Given the description of an element on the screen output the (x, y) to click on. 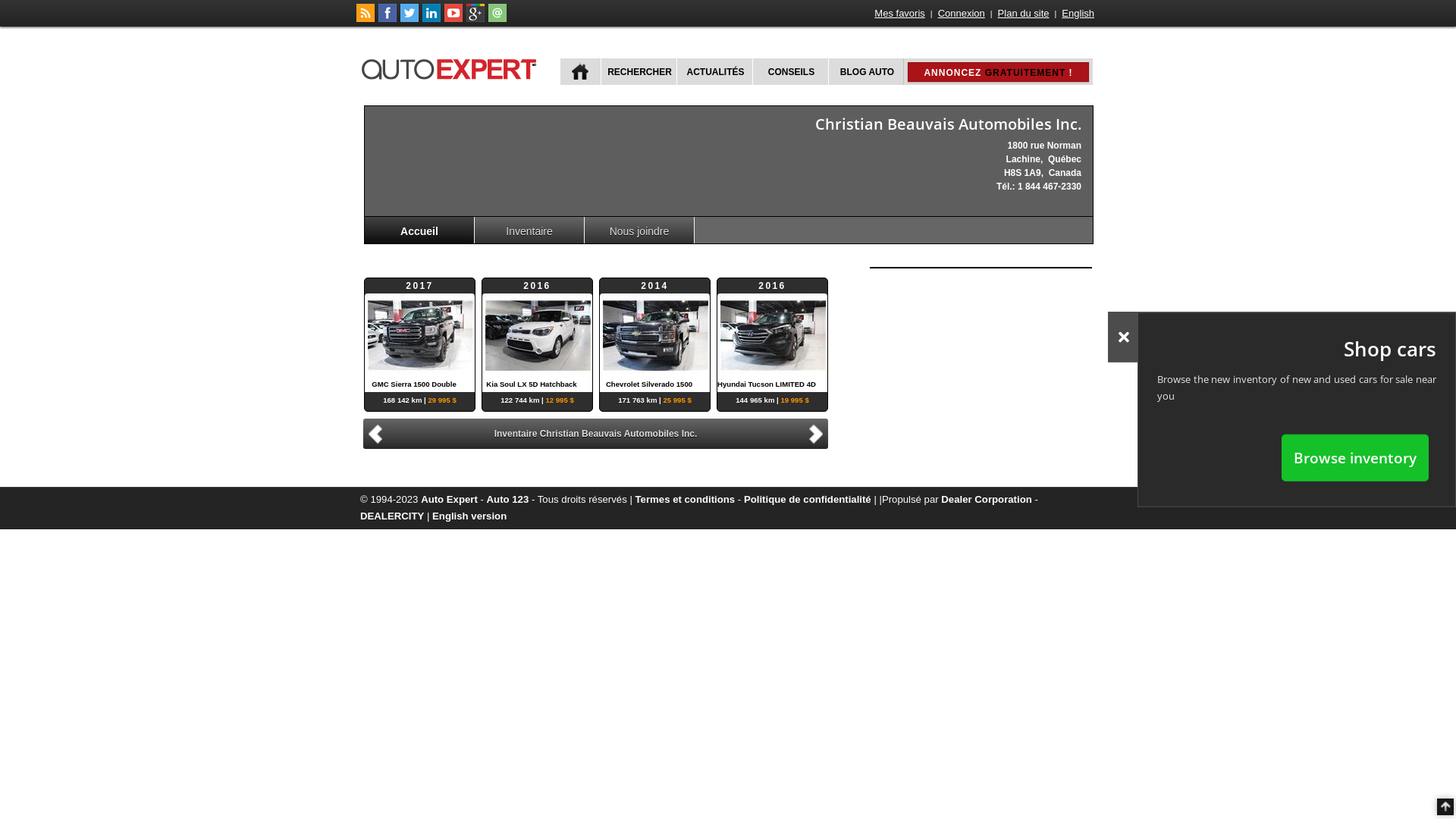
RECHERCHER Element type: text (637, 71)
Suivez autoExpert.ca sur Twitter Element type: hover (409, 18)
English version Element type: text (469, 515)
Termes et conditions Element type: text (685, 499)
Suivez autoExpert.ca sur Google Plus Element type: hover (475, 18)
BLOG AUTO Element type: text (865, 71)
Suivez autoExpert.ca sur Youtube Element type: hover (453, 18)
autoExpert.ca Element type: text (451, 66)
Nous joindre Element type: text (639, 229)
DEALERCITY Element type: text (391, 515)
Joindre autoExpert.ca Element type: hover (497, 18)
Mes favoris Element type: text (898, 13)
English Element type: text (1077, 13)
Suivez autoExpert.ca sur Facebook Element type: hover (387, 18)
Connexion Element type: text (961, 13)
CONSEILS Element type: text (789, 71)
ANNONCEZ GRATUITEMENT ! Element type: text (997, 71)
Suivez Publications Le Guide Inc. sur LinkedIn Element type: hover (431, 18)
Auto 123 Element type: text (507, 499)
Dealer Corporation Element type: text (986, 499)
2016
Kia Soul LX 5D Hatchback 6sp 2016
122 744 km | 12 995 $ Element type: text (537, 335)
Inventaire Element type: text (529, 229)
Auto Expert Element type: text (448, 499)
Plan du site Element type: text (1023, 13)
Accueil Element type: text (419, 229)
Suivant Element type: hover (818, 432)
Browse inventory Element type: text (1354, 457)
ACCUEIL Element type: text (580, 71)
